Given the description of an element on the screen output the (x, y) to click on. 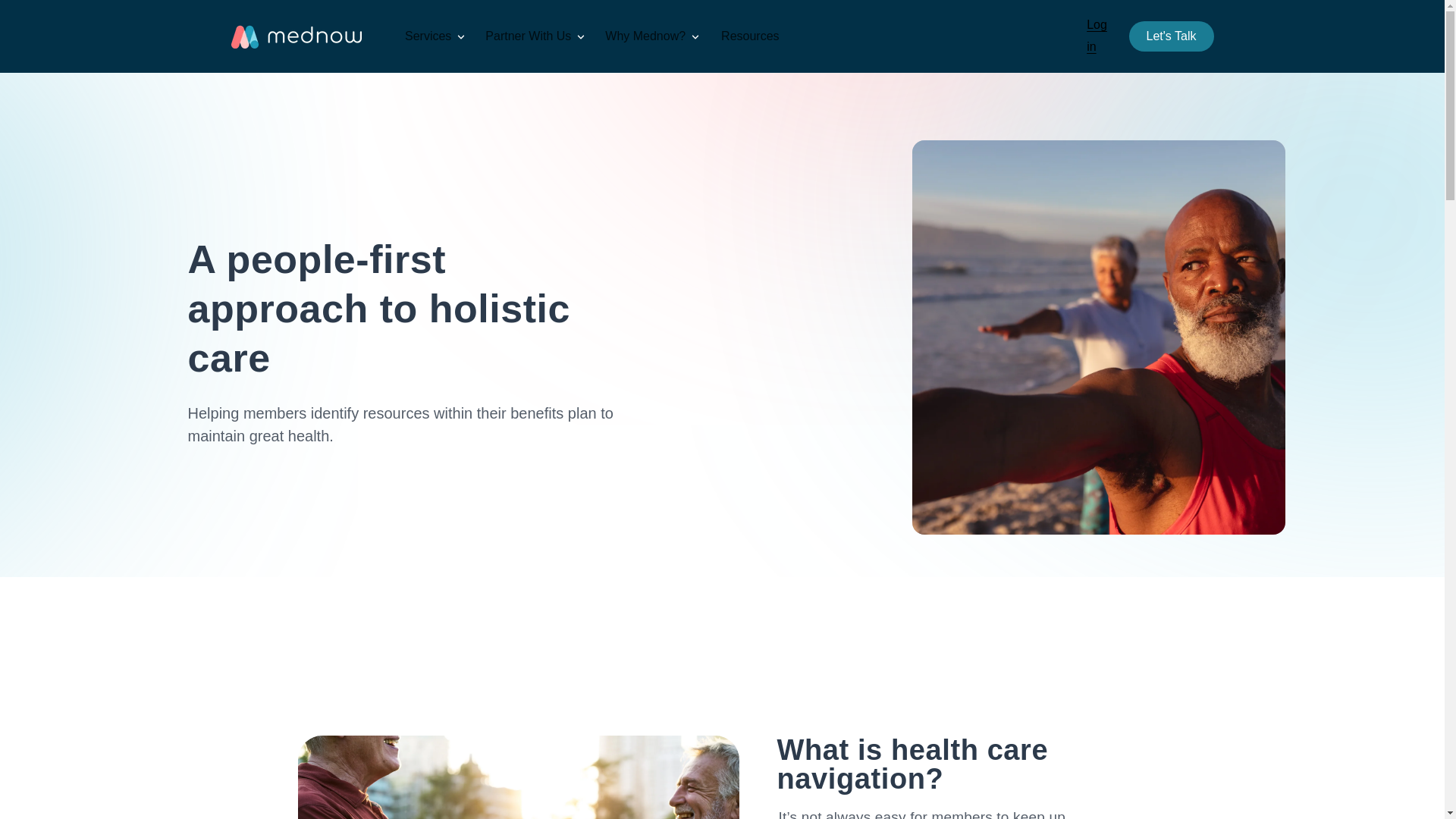
Log in (1096, 36)
Resources (749, 36)
Passer au contenu (45, 16)
